Given the description of an element on the screen output the (x, y) to click on. 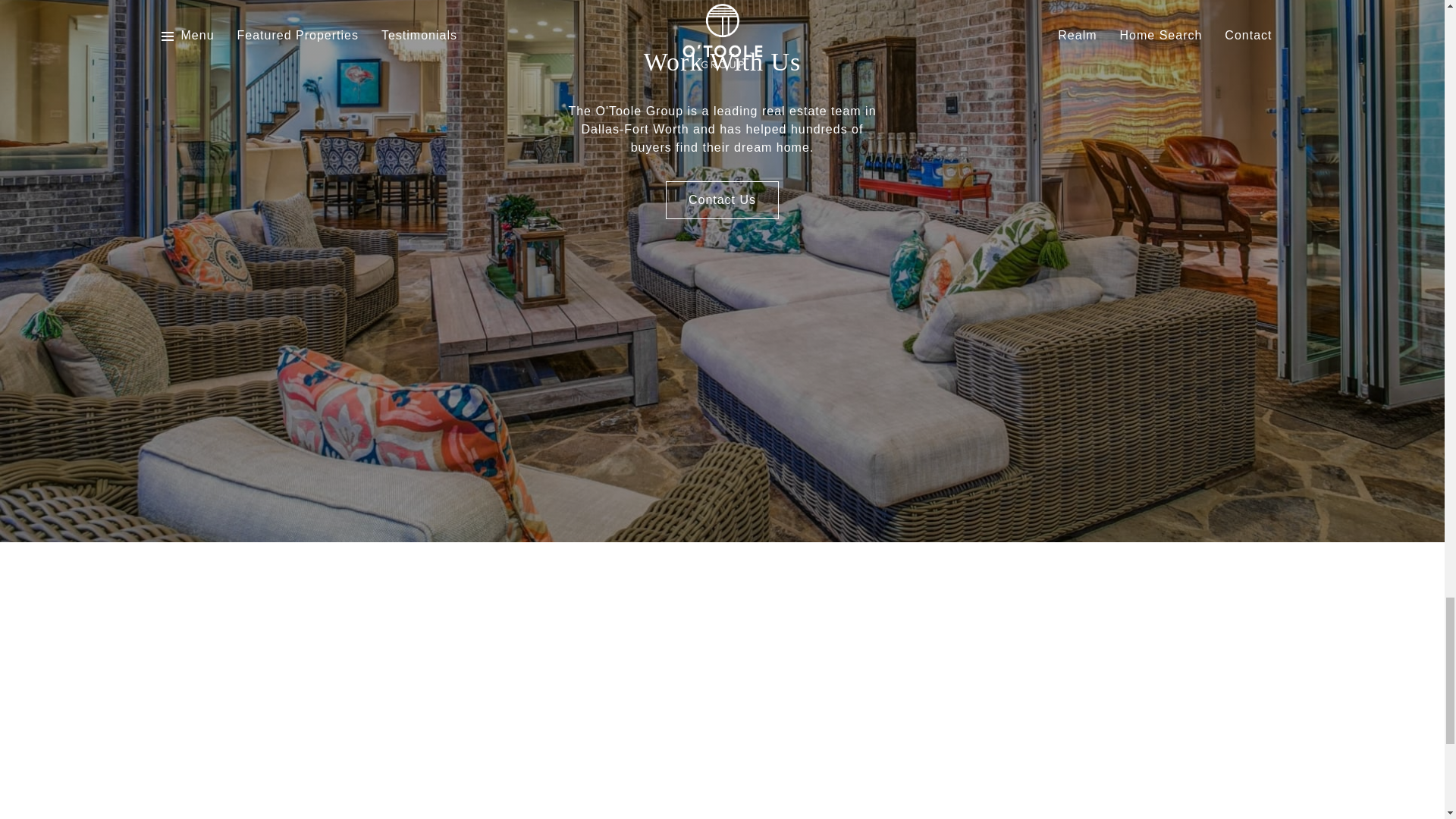
Contact Us (721, 199)
